Given the description of an element on the screen output the (x, y) to click on. 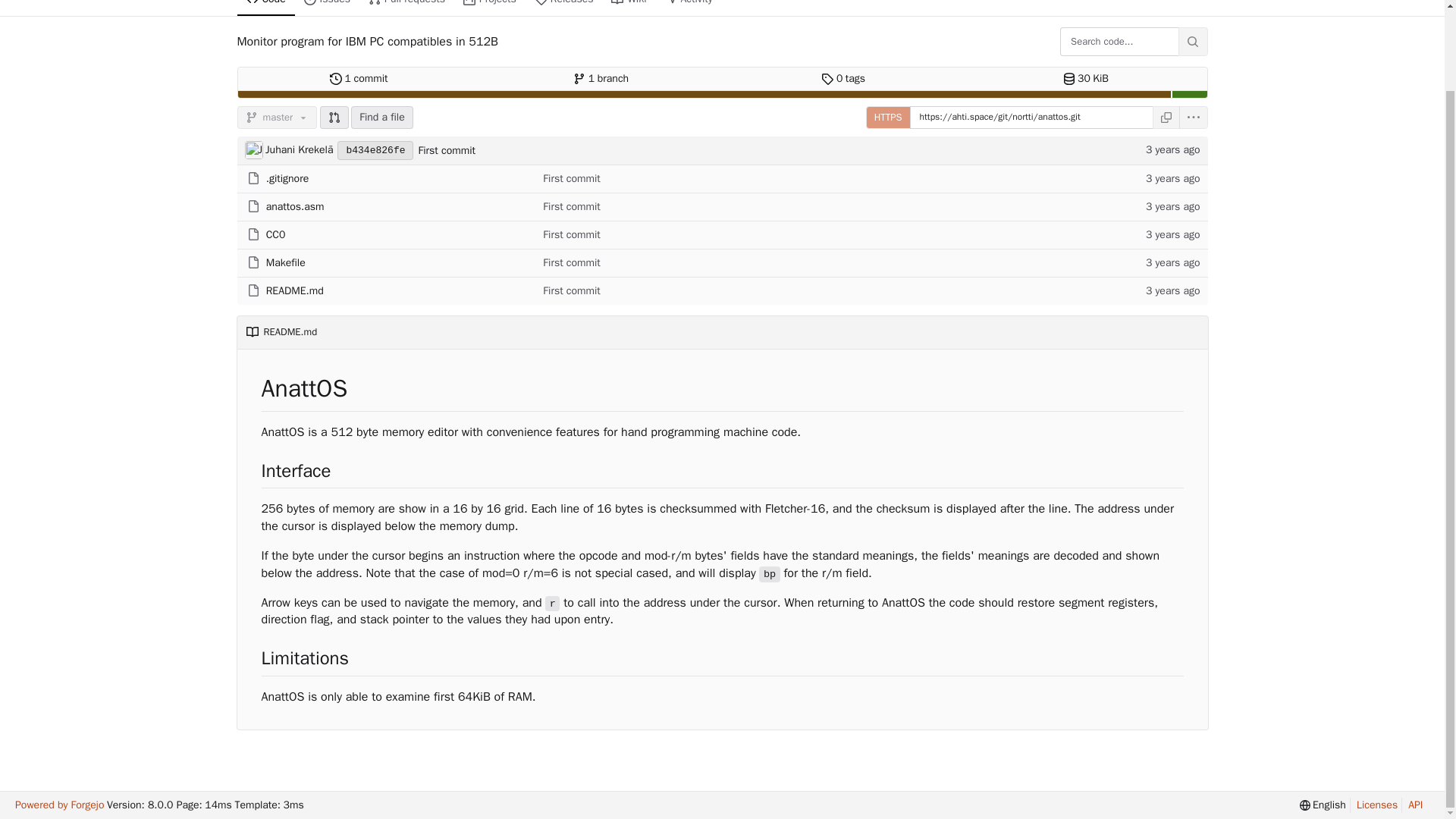
Releases (563, 7)
Find a file (381, 117)
Makefile (359, 78)
Issues (285, 262)
Pull requests (327, 7)
README.md (406, 7)
HTTPS (294, 290)
Projects (601, 78)
Wiki (888, 117)
Code (489, 7)
.gitignore (628, 7)
Activity (264, 7)
master (287, 178)
